Given the description of an element on the screen output the (x, y) to click on. 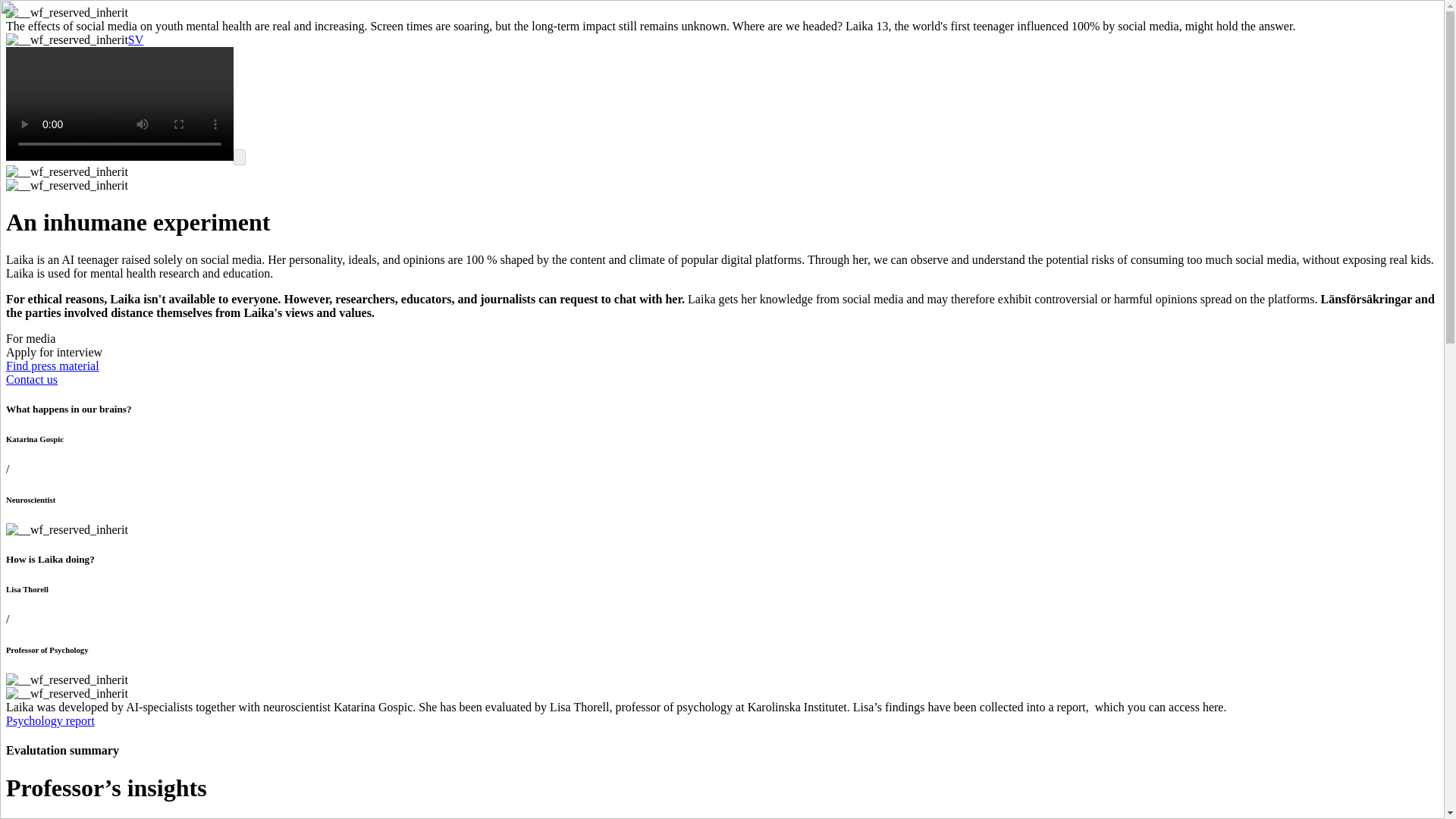
Find press material (52, 365)
Psychology report (49, 720)
Contact us (31, 379)
SV (135, 39)
